Given the description of an element on the screen output the (x, y) to click on. 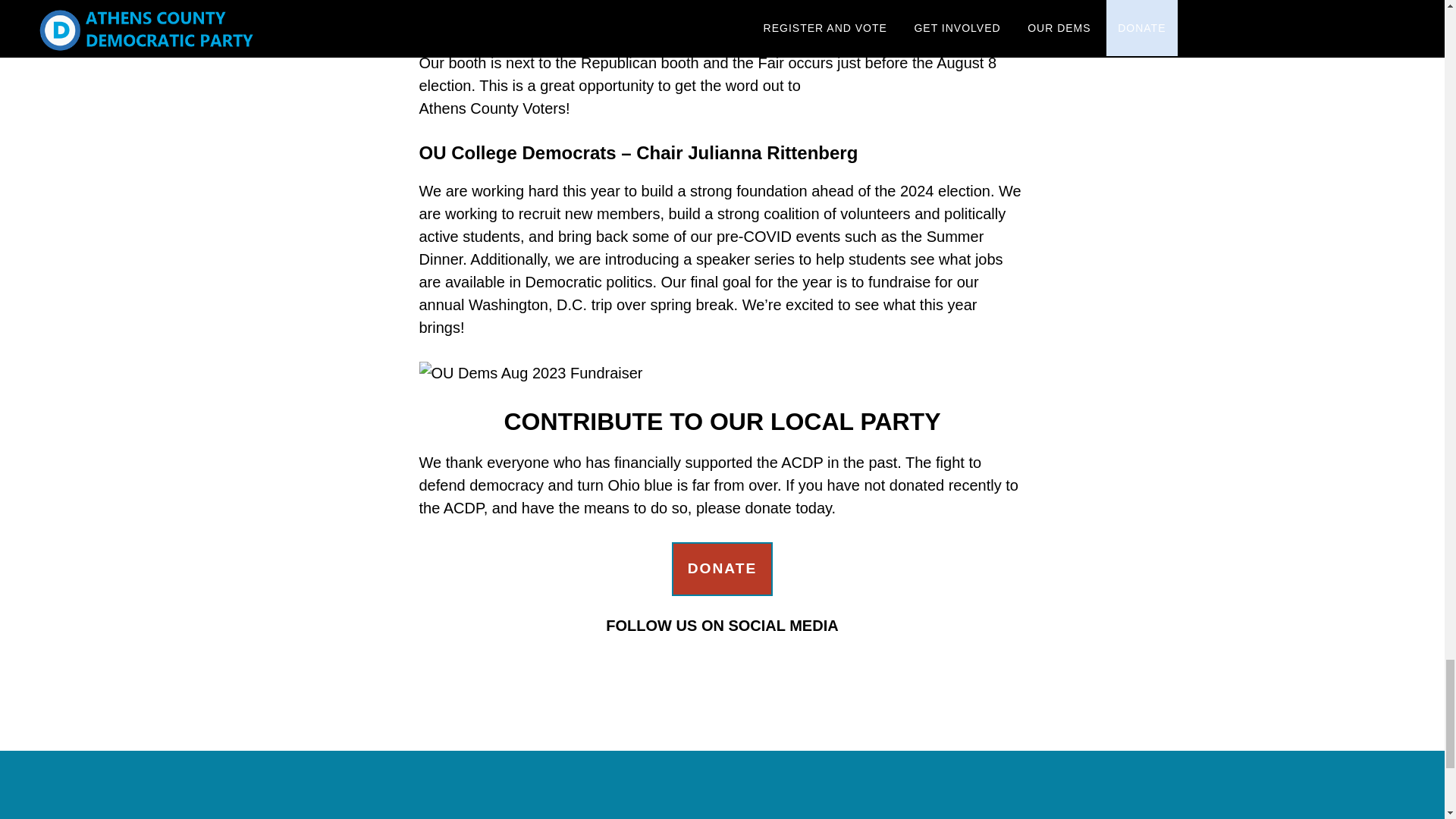
DONATE (722, 569)
